Given the description of an element on the screen output the (x, y) to click on. 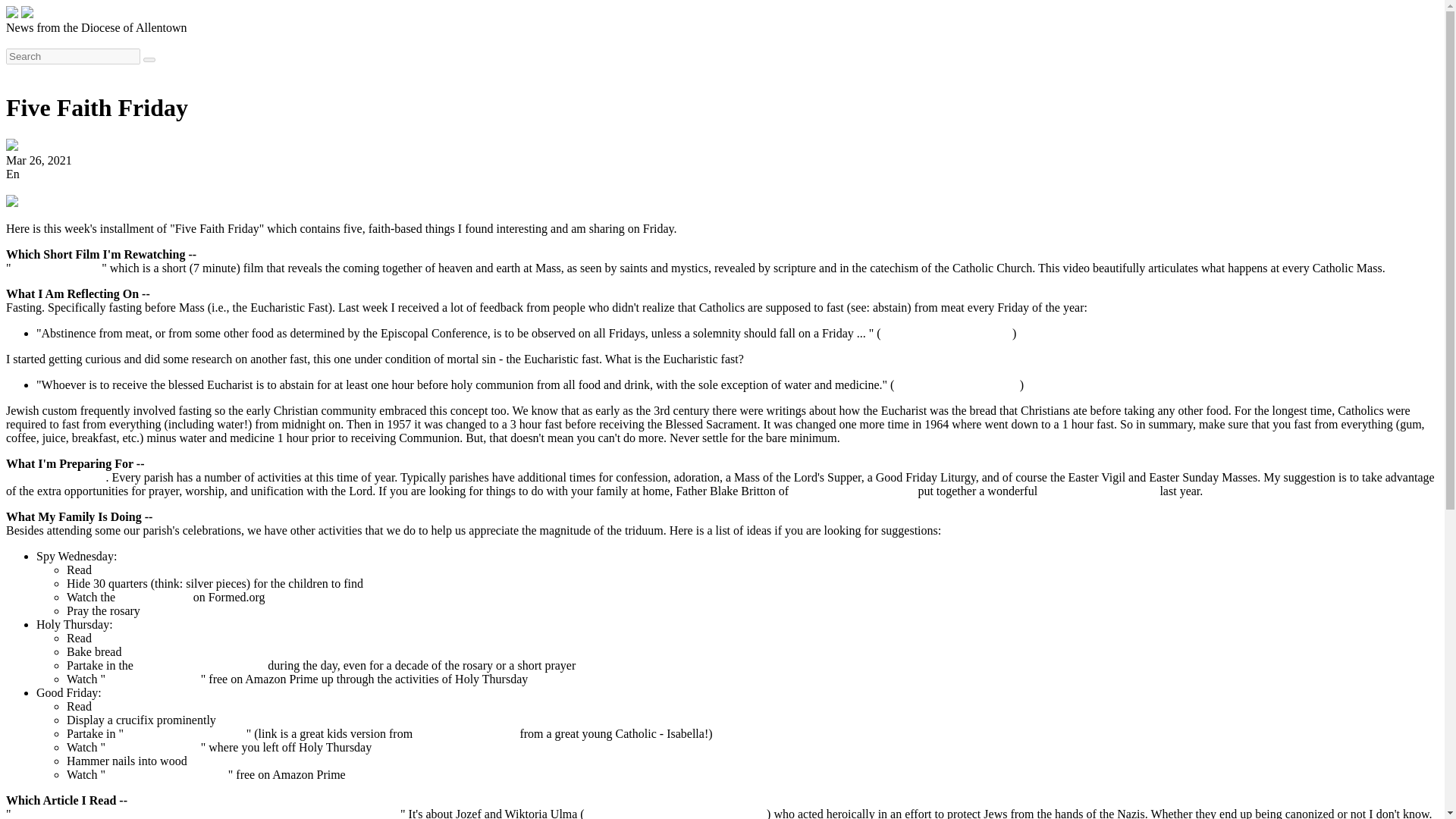
Seven Churches Visitation (200, 665)
AD Times (30, 41)
The Gospel of John (152, 747)
Diocesan Staff (57, 146)
The Burrowshire Podcast (853, 490)
The Sacred Triduum (55, 477)
Local (130, 41)
Search (22, 70)
Matthew 27:11-66 (139, 706)
Catholic Kids Media (465, 733)
Events (164, 41)
home guide for families (1098, 490)
The Gospel of John (152, 678)
All Sections (255, 41)
